Given the description of an element on the screen output the (x, y) to click on. 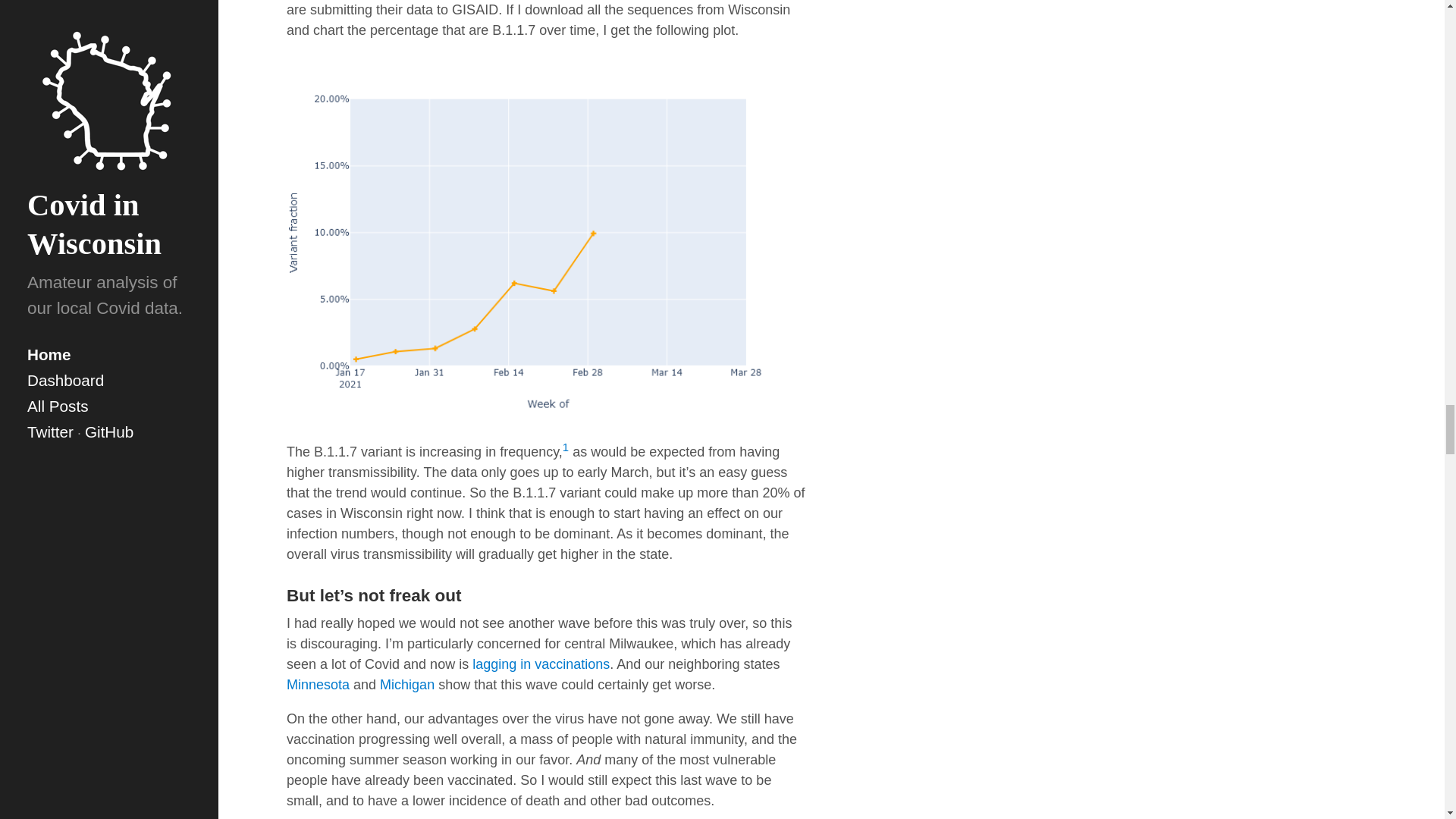
Michigan (406, 684)
Minnesota (317, 684)
lagging in vaccinations (540, 663)
